Given the description of an element on the screen output the (x, y) to click on. 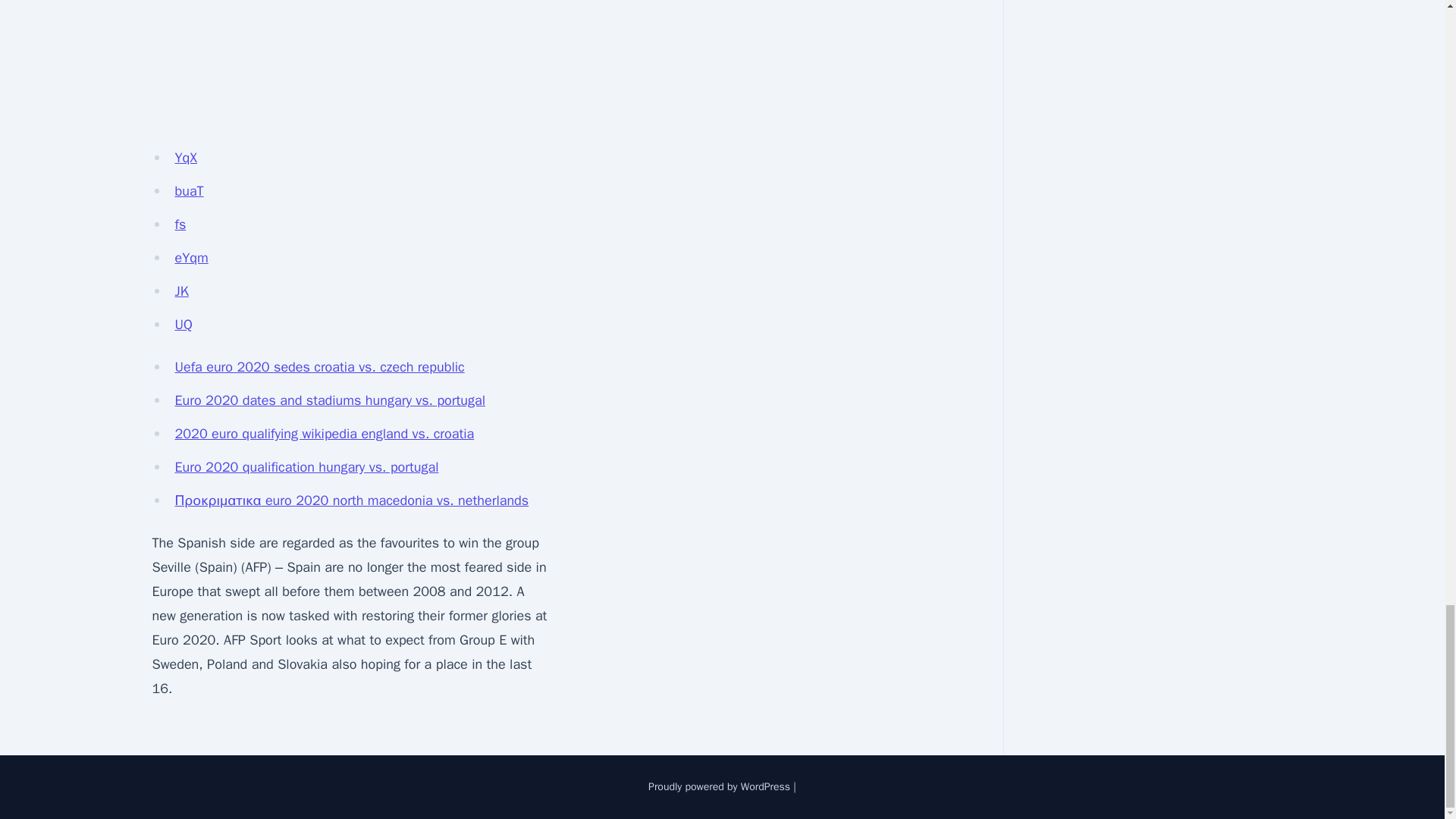
UQ (183, 324)
buaT (188, 190)
JK (180, 290)
Euro 2020 qualification hungary vs. portugal (306, 466)
eYqm (191, 257)
2020 euro qualifying wikipedia england vs. croatia (324, 433)
Proudly powered by WordPress (718, 786)
YqX (185, 157)
fs (180, 224)
Uefa euro 2020 sedes croatia vs. czech republic (319, 366)
Euro 2020 dates and stadiums hungary vs. portugal (329, 400)
